Given the description of an element on the screen output the (x, y) to click on. 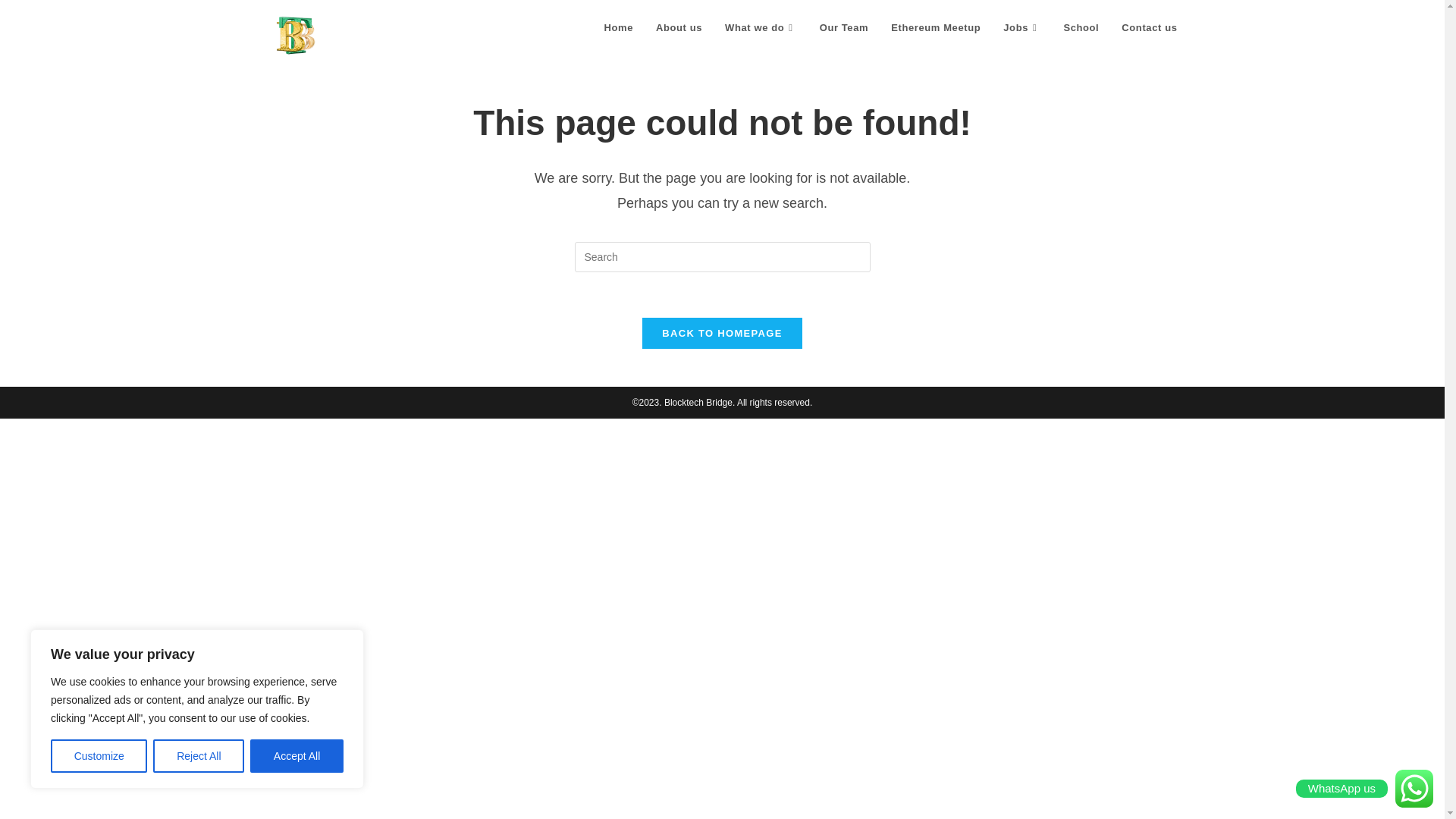
About us (679, 28)
Contact us (1148, 28)
Ethereum Meetup (935, 28)
Our Team (844, 28)
What we do (760, 28)
Home (618, 28)
Jobs (1021, 28)
School (1080, 28)
